Given the description of an element on the screen output the (x, y) to click on. 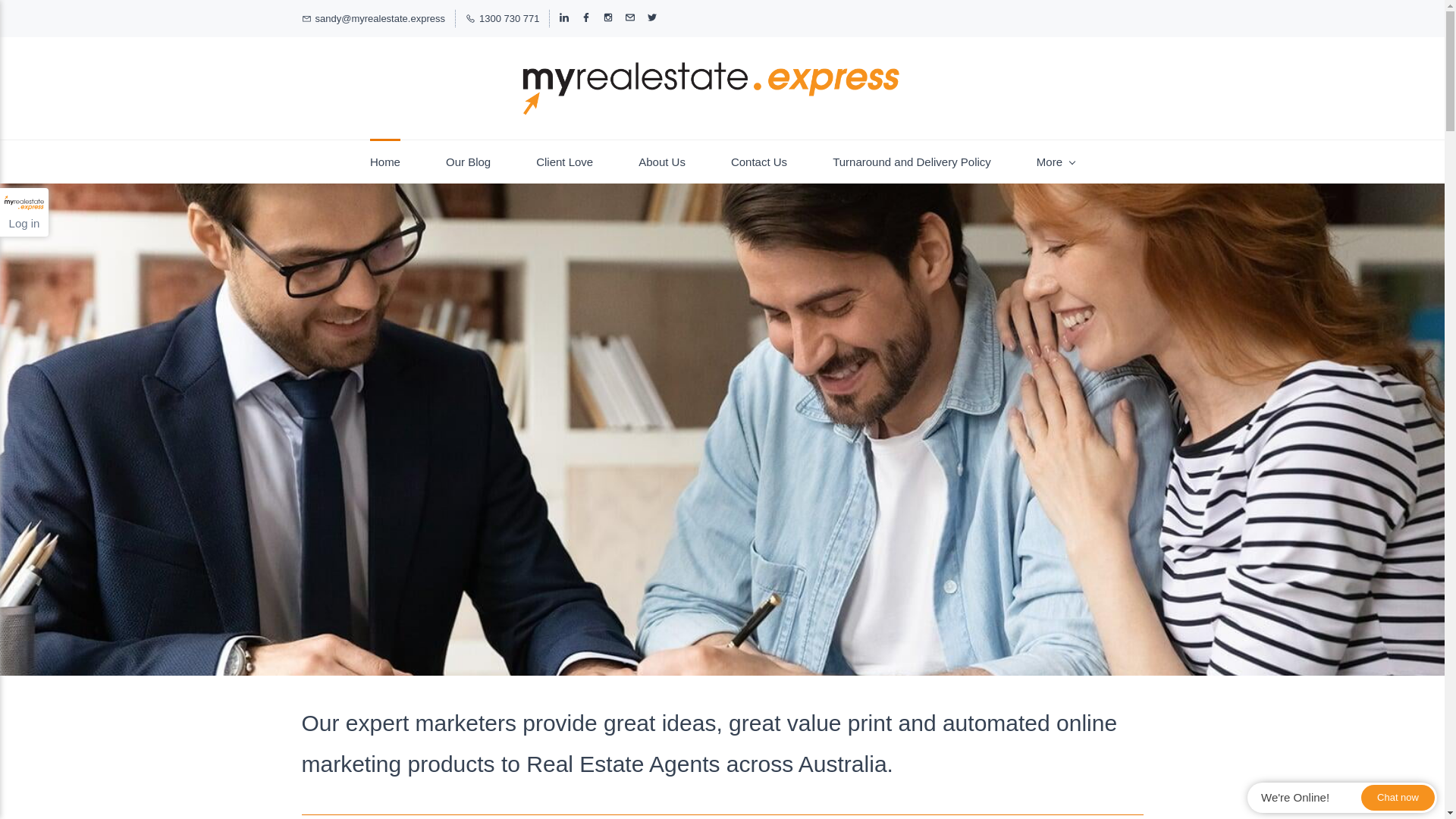
More Element type: text (1055, 161)
About Us Element type: text (661, 161)
Home Element type: text (385, 161)
Our Blog Element type: text (467, 161)
Client Love Element type: text (564, 161)
1300 730 771 Element type: text (502, 18)
Turnaround and Delivery Policy Element type: text (911, 161)
sandy@myrealestate.express Element type: text (373, 18)
Contact Us Element type: text (759, 161)
